Given the description of an element on the screen output the (x, y) to click on. 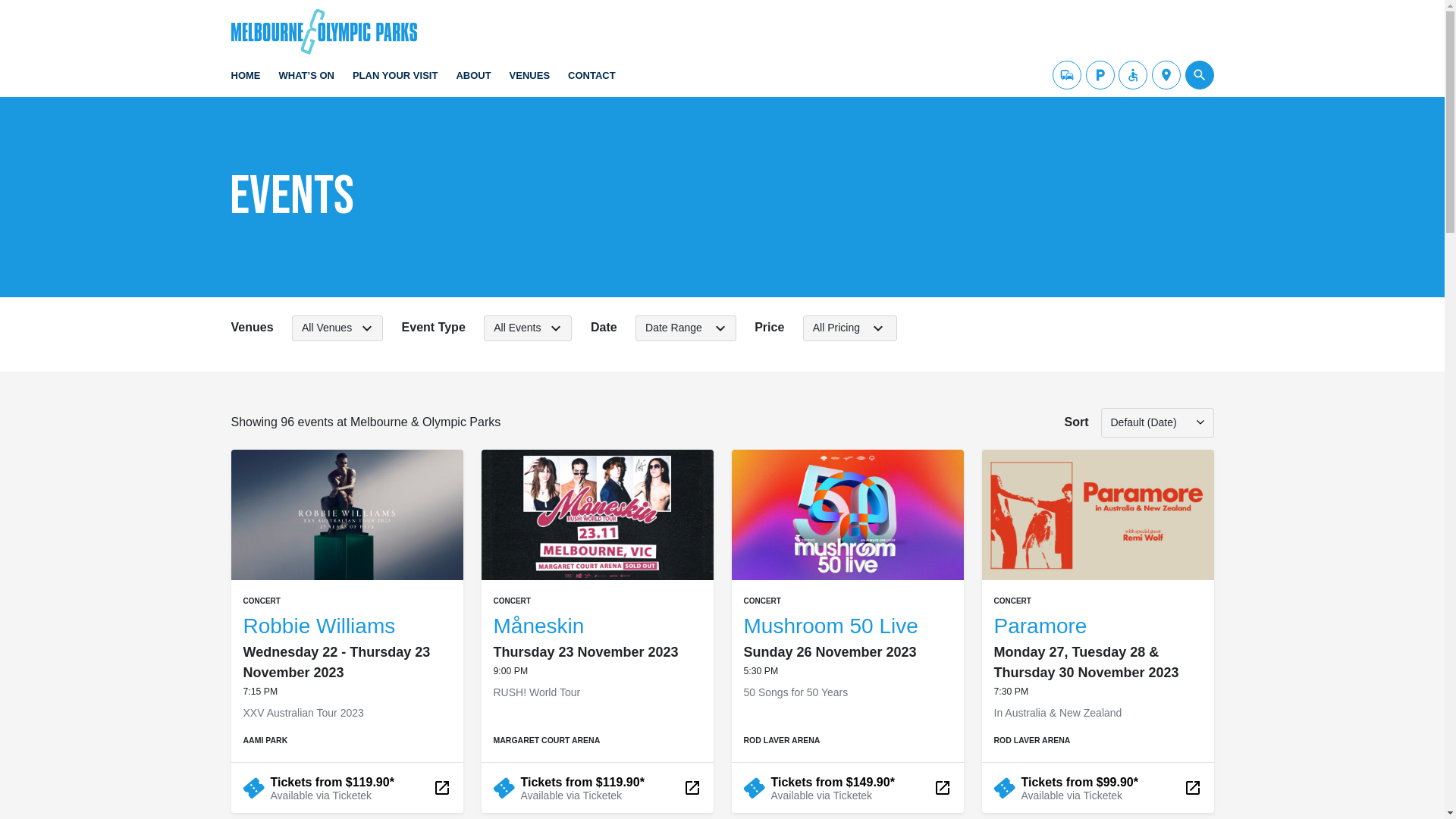
All Pricing Element type: text (850, 328)
VENUES Element type: text (529, 78)
Mushroom 50 Live Element type: text (830, 625)
All Venues Element type: text (336, 328)
Paramore Element type: text (1039, 625)
commute
Getting Here Element type: text (1066, 74)
PLAN YOUR VISIT Element type: text (394, 78)
search Element type: text (1198, 74)
CONTACT Element type: text (591, 78)
HOME Element type: text (245, 78)
ABOUT Element type: text (472, 78)
Date Range Element type: text (685, 328)
local_parking
Parking Element type: text (1099, 74)
Robbie Williams Element type: text (318, 625)
All Events Element type: text (527, 328)
Melbourne & Olympic Parks Element type: text (415, 8)
Skip to primary navigation Element type: text (23, 21)
location_on
Maps Element type: text (1165, 74)
accessible
Accessibility Element type: text (1132, 74)
